Given the description of an element on the screen output the (x, y) to click on. 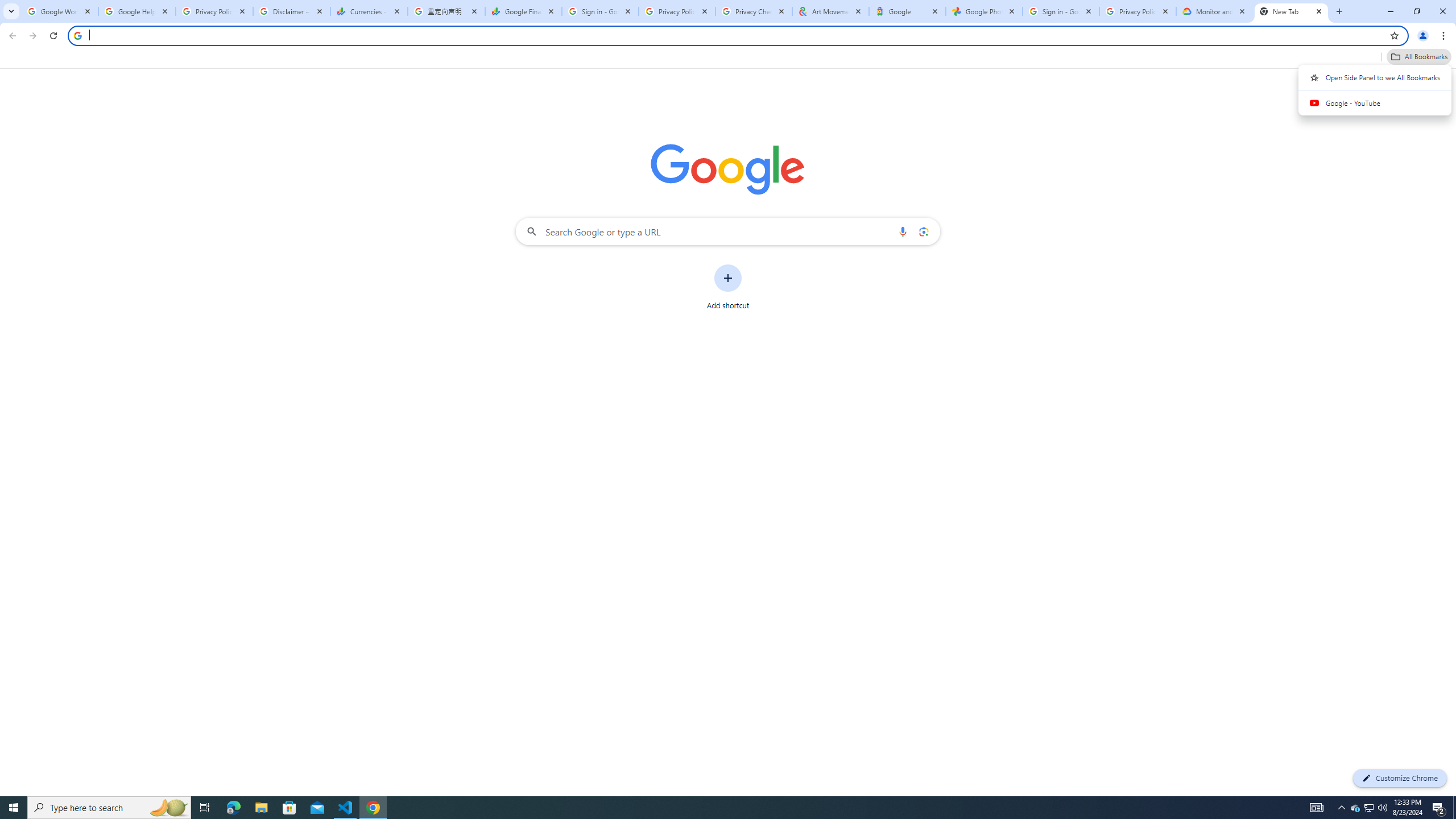
Sign in - Google Accounts (1061, 11)
Search Google or type a URL (727, 230)
